Given the description of an element on the screen output the (x, y) to click on. 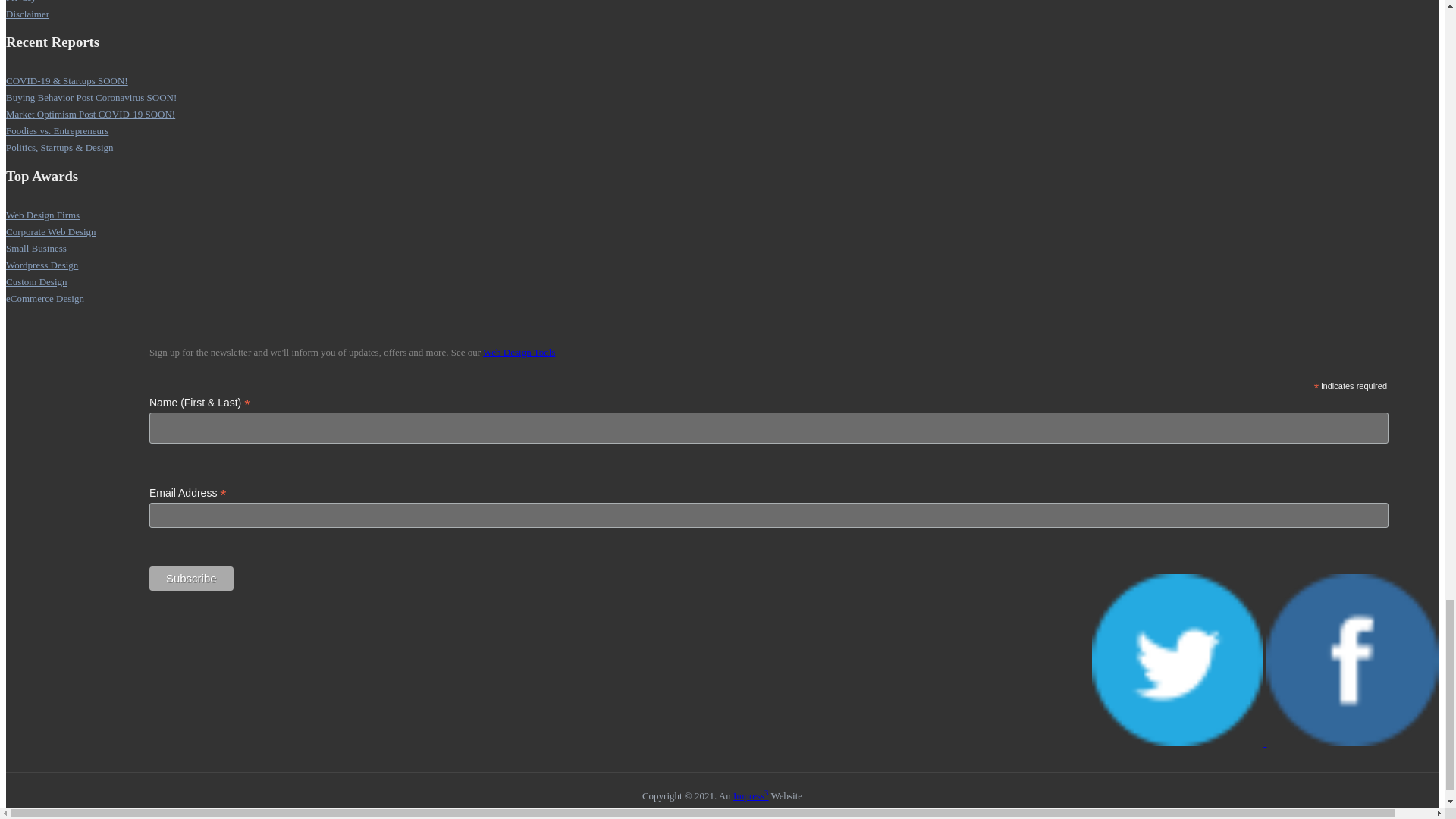
Subscribe (190, 578)
Web Design Tools (518, 351)
